Given the description of an element on the screen output the (x, y) to click on. 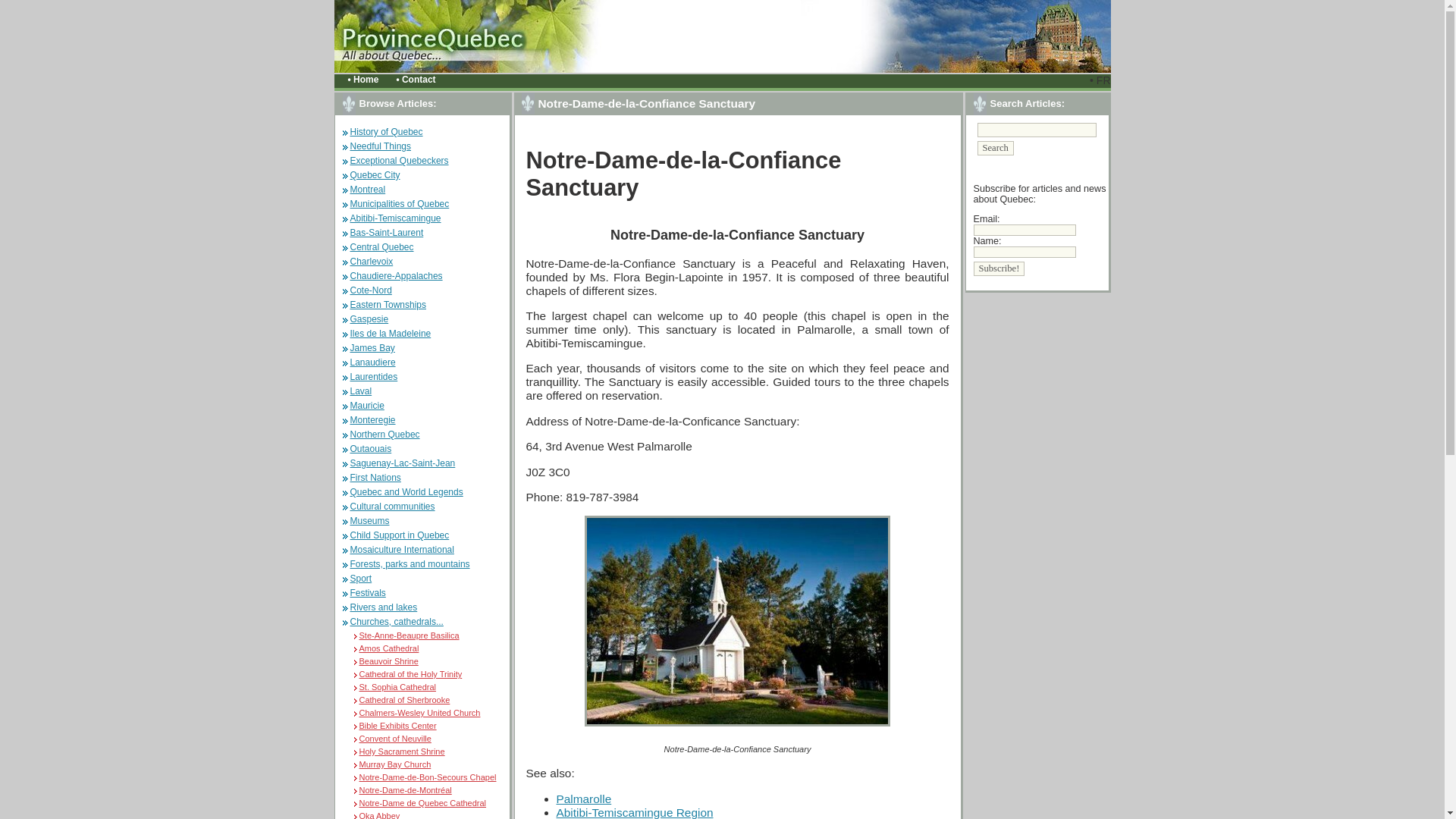
Charlevoix (371, 261)
Mauricie (367, 405)
Chaudiere-Appalaches (396, 276)
Quebec and World Legends (406, 491)
Forests, parks and mountains (410, 563)
Laval (361, 390)
Laurentides (373, 376)
Gaspesie (369, 318)
Central Quebec (381, 246)
History of Quebec (386, 131)
Museums (370, 520)
First Nations (375, 477)
All About Quebec (472, 36)
Cultural communities (392, 506)
Churches, cathedrals... (397, 621)
